Given the description of an element on the screen output the (x, y) to click on. 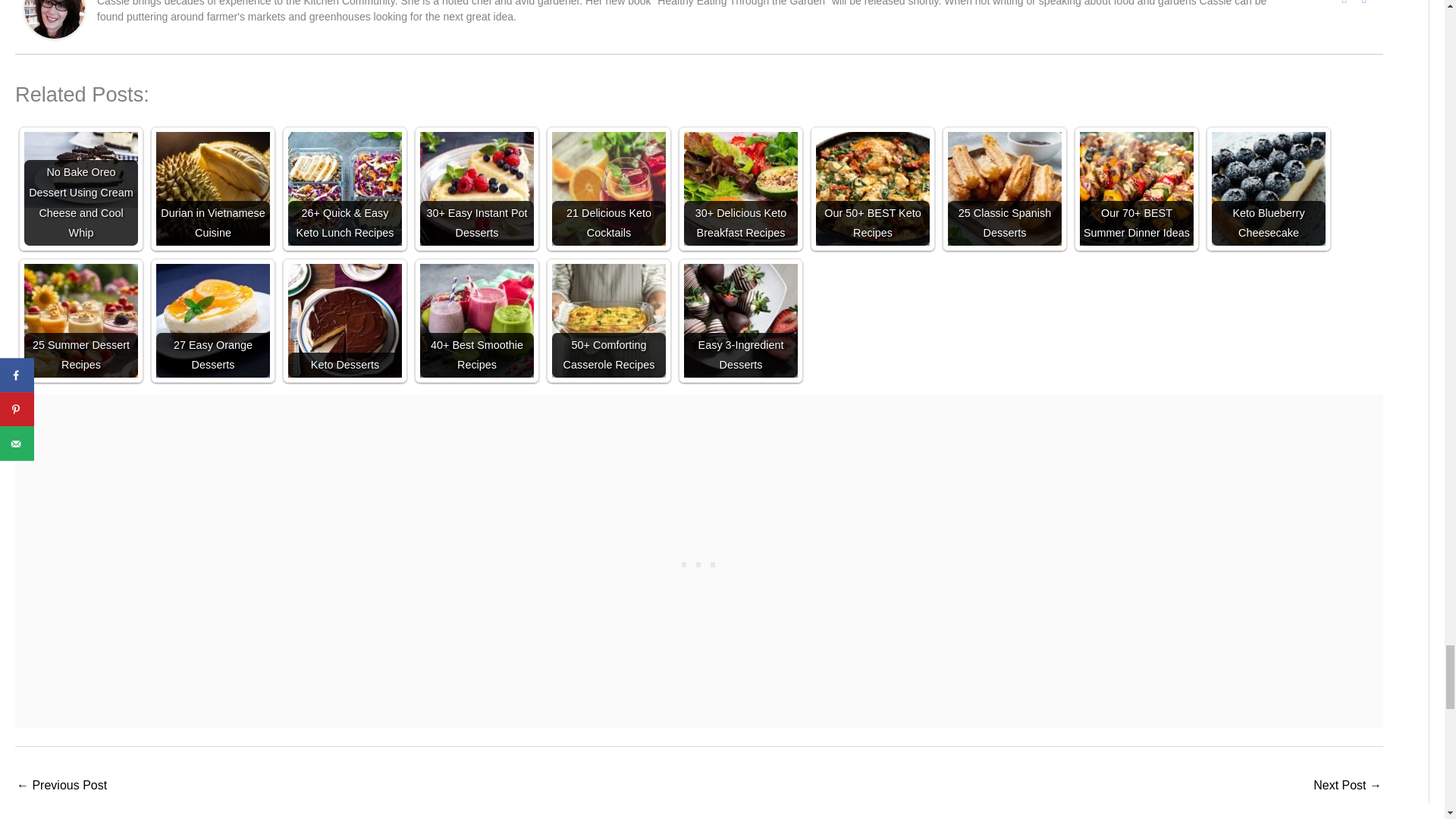
Durian in Vietnamese Cuisine (212, 188)
21 Delicious Keto Cocktails (608, 188)
Facebook (1344, 3)
Cassie Marshall (54, 6)
Twitter (1364, 3)
No Bake Oreo Dessert Using Cream Cheese and Cool Whip (81, 169)
